Given the description of an element on the screen output the (x, y) to click on. 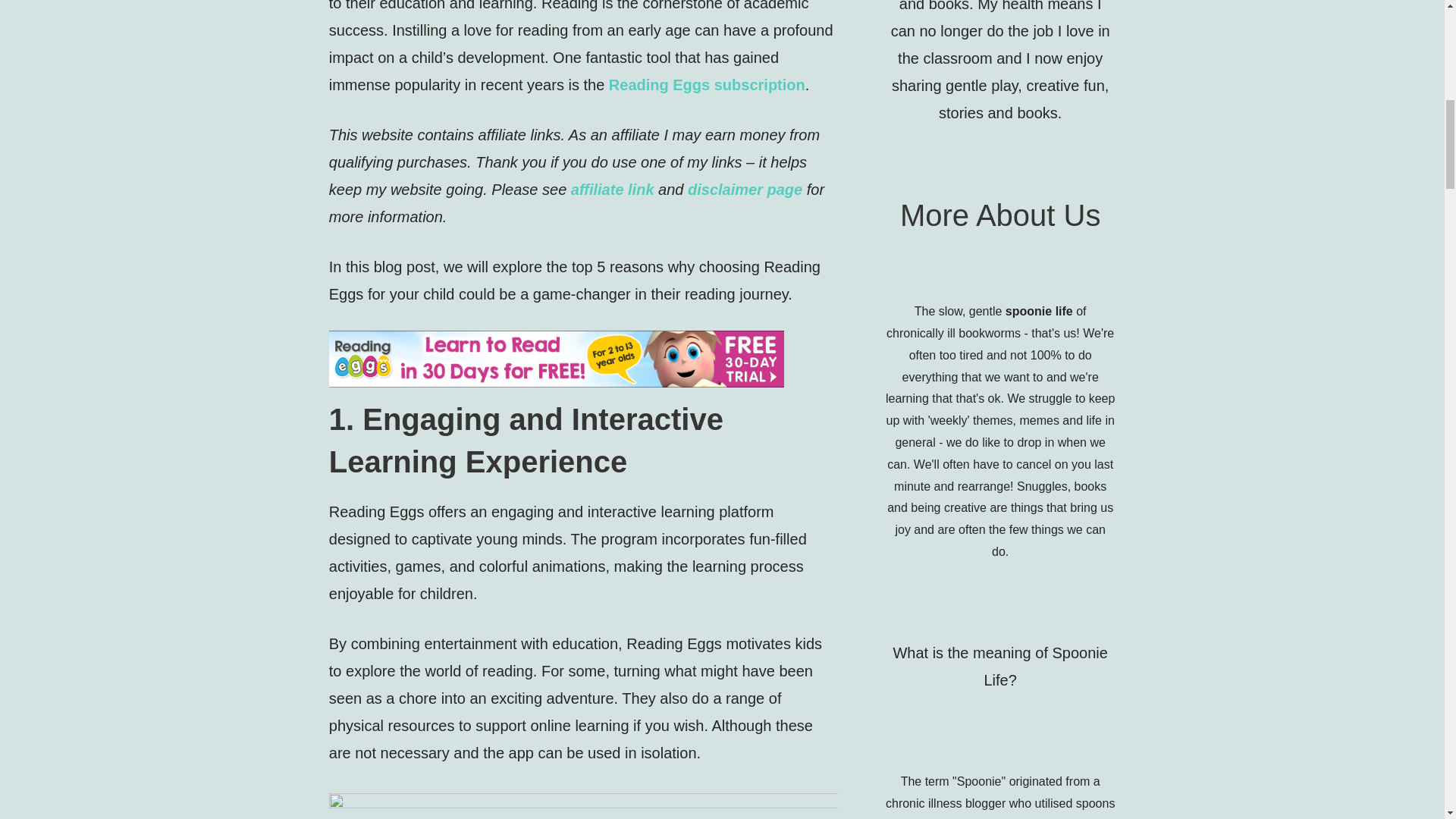
affiliate link (611, 189)
disclaimer page (744, 189)
Reading Eggs subscription (706, 84)
